Given the description of an element on the screen output the (x, y) to click on. 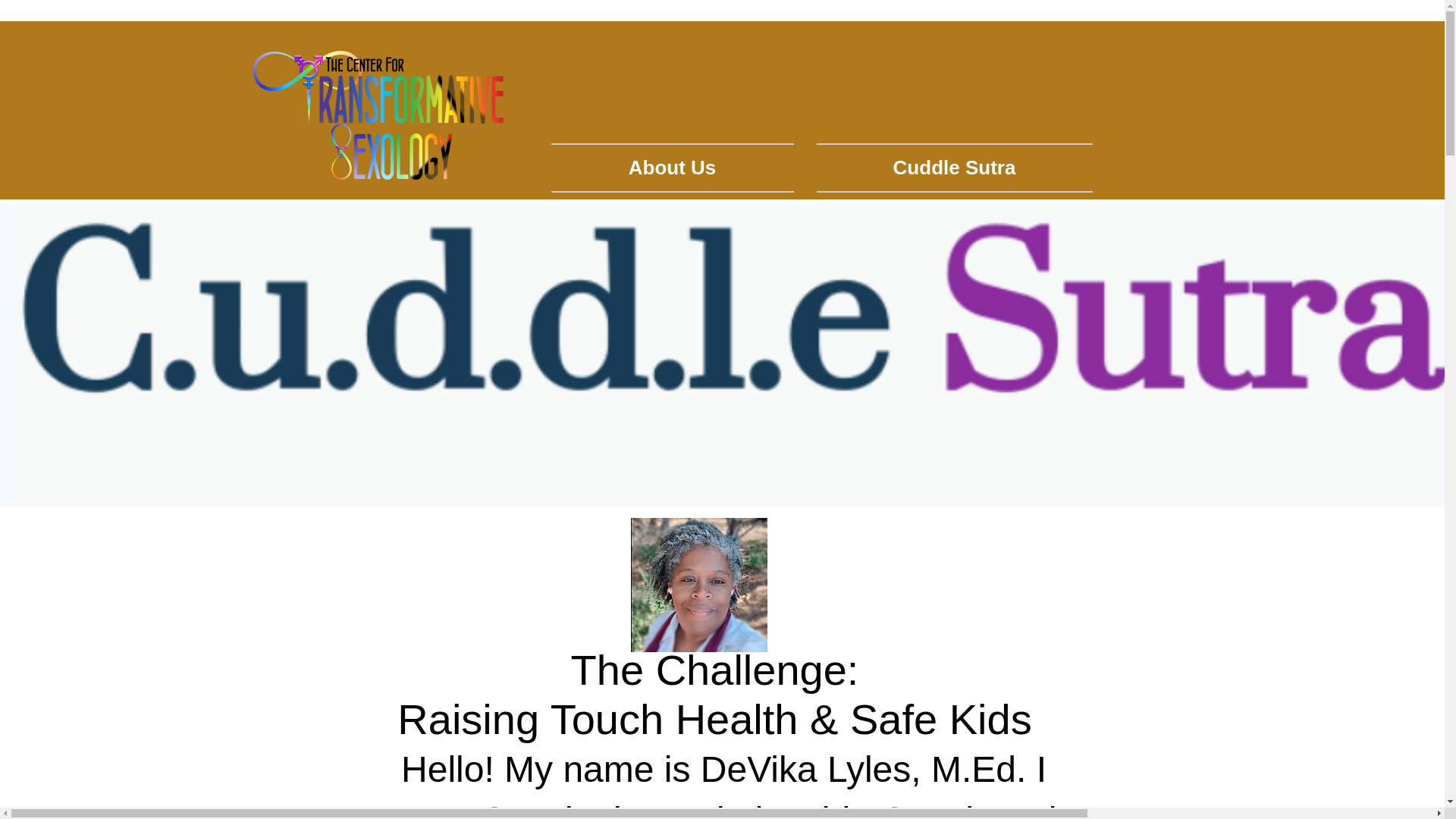
Cuddle Sutra (949, 167)
About Us (677, 167)
logono.png (378, 115)
